Given the description of an element on the screen output the (x, y) to click on. 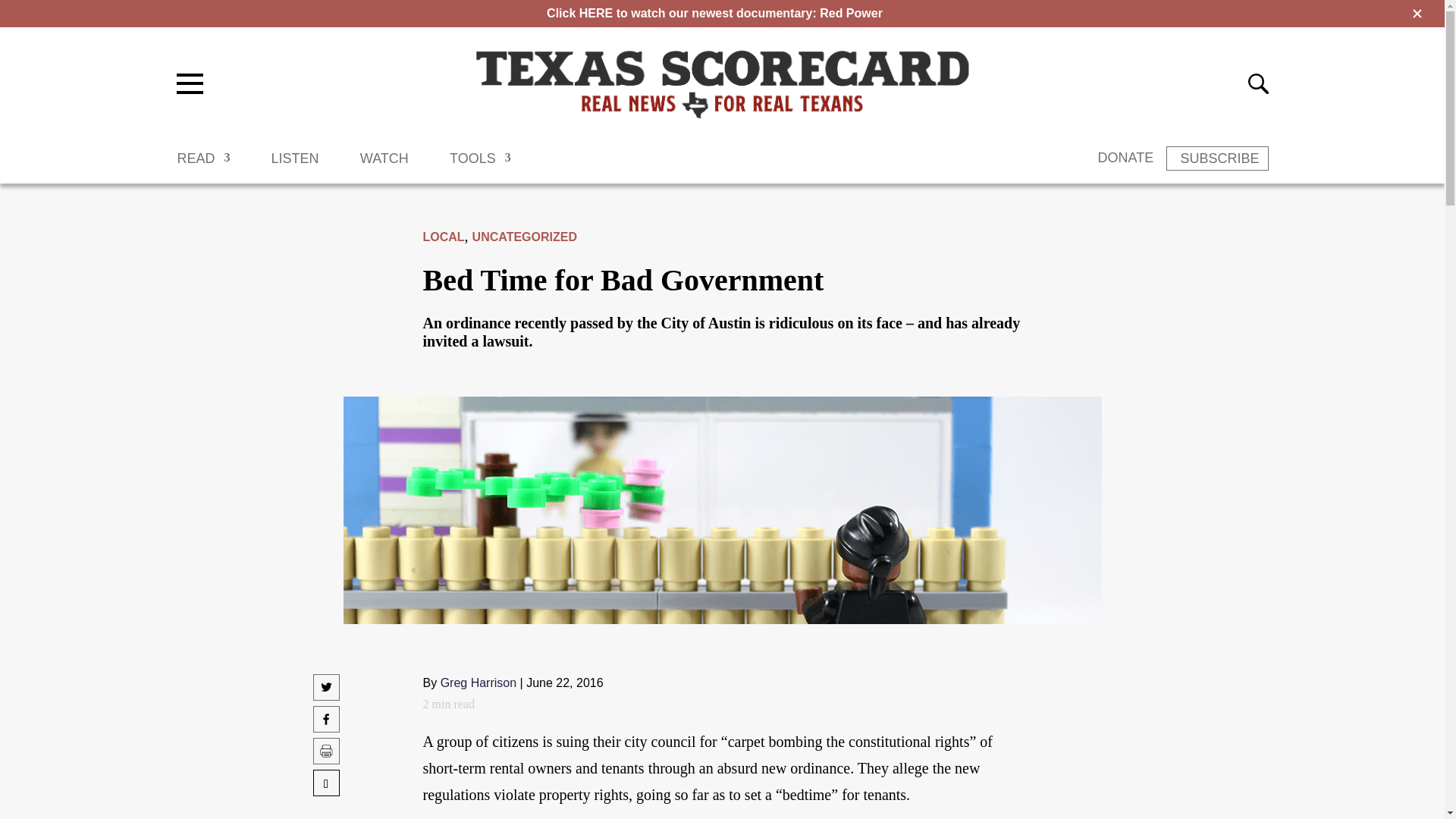
Icon - Search (1257, 83)
TOOLS (480, 165)
Share this on Twitter (326, 695)
WATCH (384, 165)
Share this on Facebook (326, 727)
READ (203, 165)
Click HERE to watch our newest documentary: Red Power (714, 12)
LISTEN (294, 165)
Posts by Greg Harrison (478, 682)
